Given the description of an element on the screen output the (x, y) to click on. 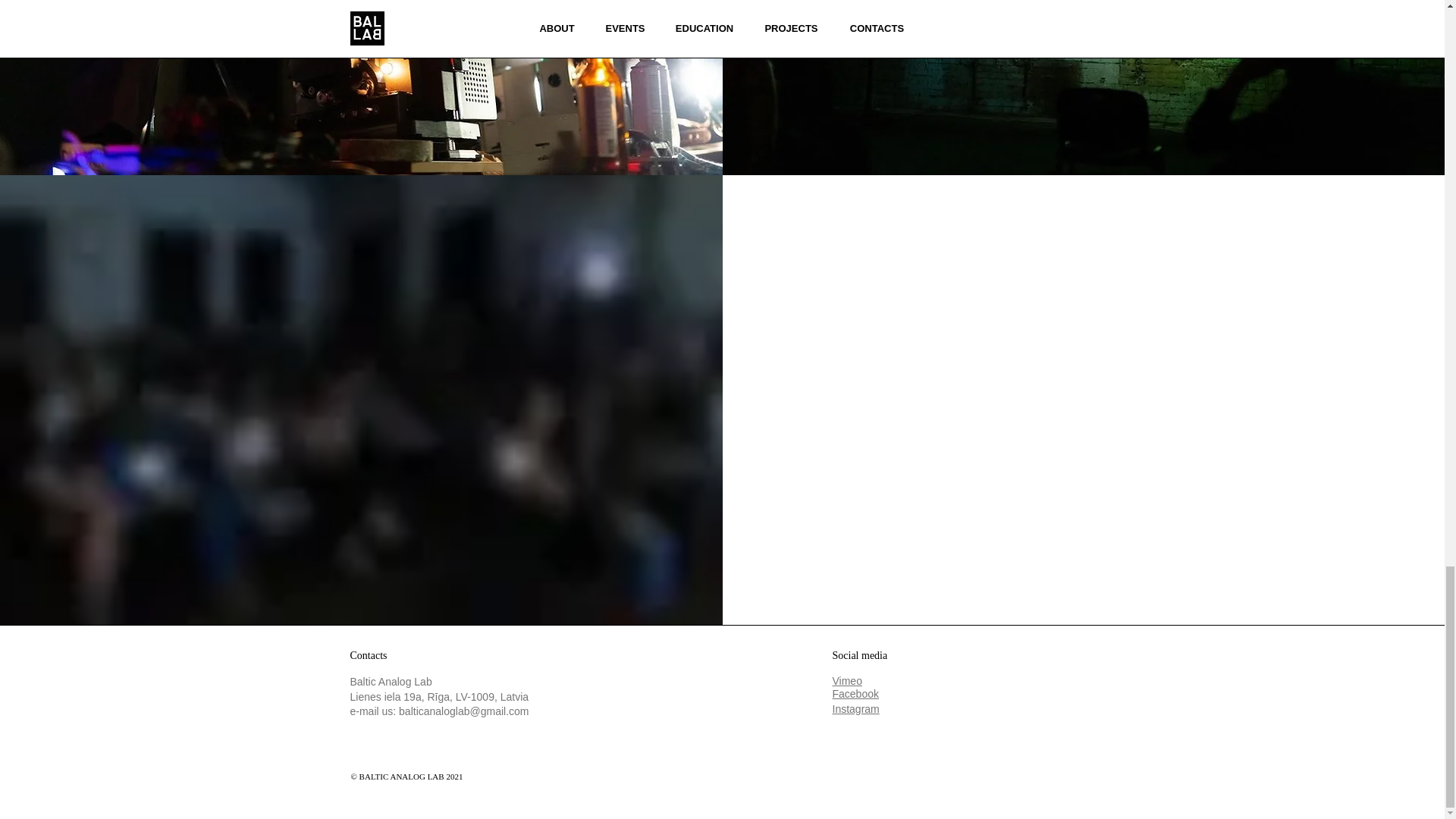
Facebook (855, 693)
Instagram (855, 708)
Vimeo (846, 680)
